Given the description of an element on the screen output the (x, y) to click on. 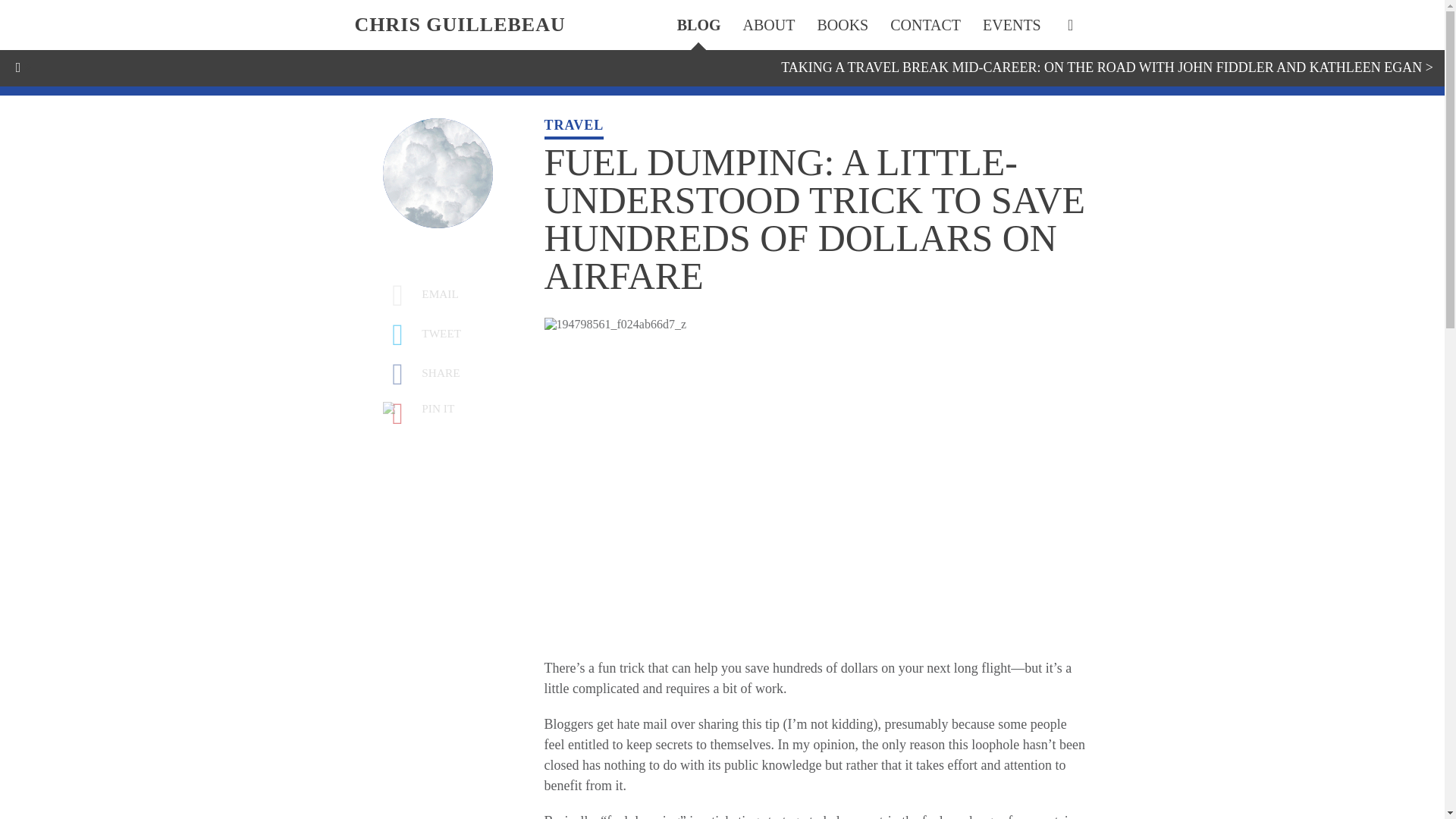
EVENTS (1011, 24)
TRAVEL (574, 128)
BLOG (698, 24)
CONTACT (924, 24)
CHRIS GUILLEBEAU (722, 25)
BOOKS (841, 24)
ABOUT (768, 24)
